Given the description of an element on the screen output the (x, y) to click on. 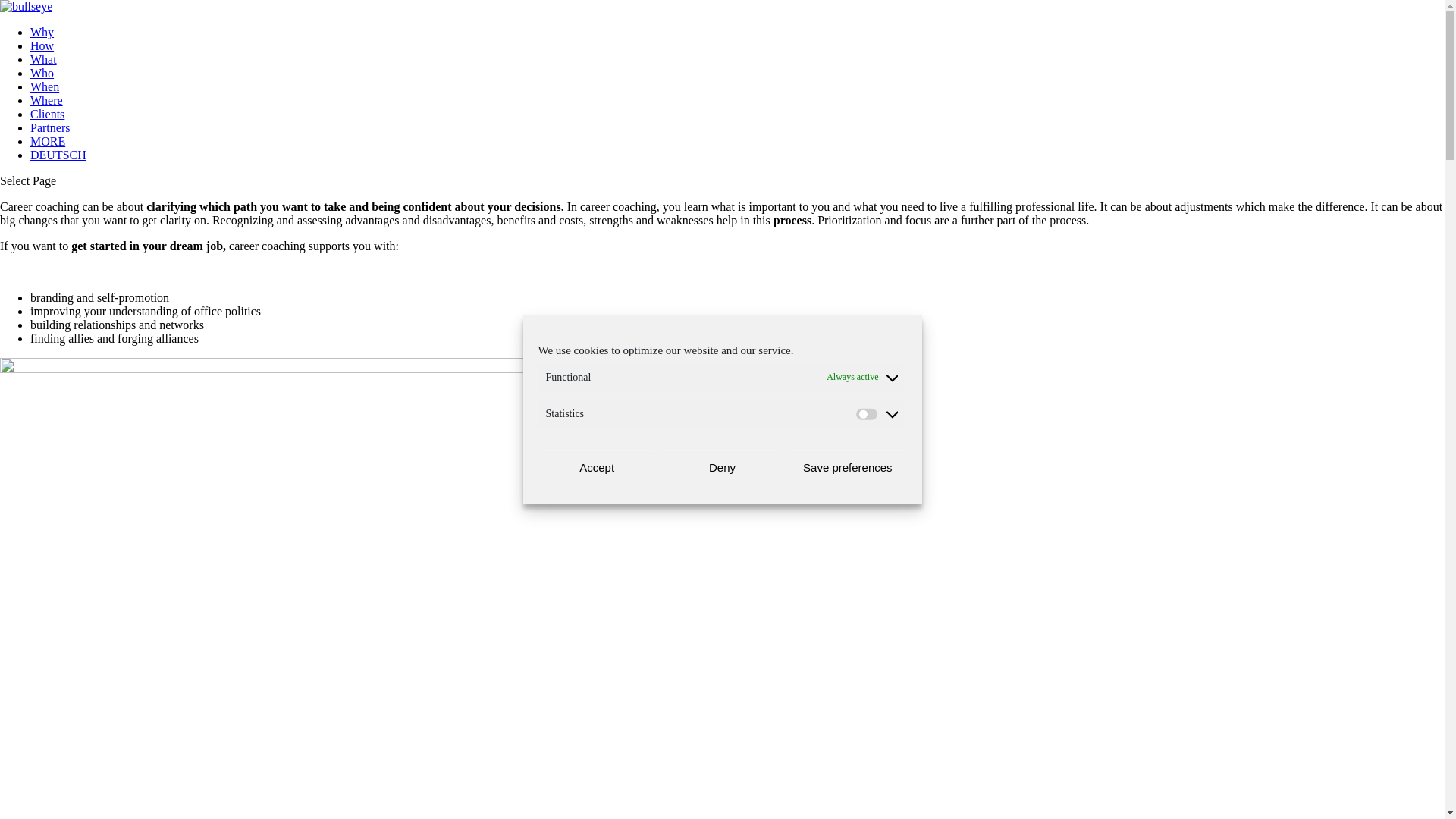
Deny Element type: text (722, 467)
What Element type: text (43, 59)
When Element type: text (44, 86)
Why Element type: text (41, 31)
How Element type: text (41, 45)
MORE Element type: text (47, 140)
Accept Element type: text (596, 467)
DEUTSCH Element type: text (58, 154)
Where Element type: text (46, 100)
Clients Element type: text (47, 113)
Partners Element type: text (49, 127)
Who Element type: text (41, 72)
Save preferences Element type: text (847, 467)
